Given the description of an element on the screen output the (x, y) to click on. 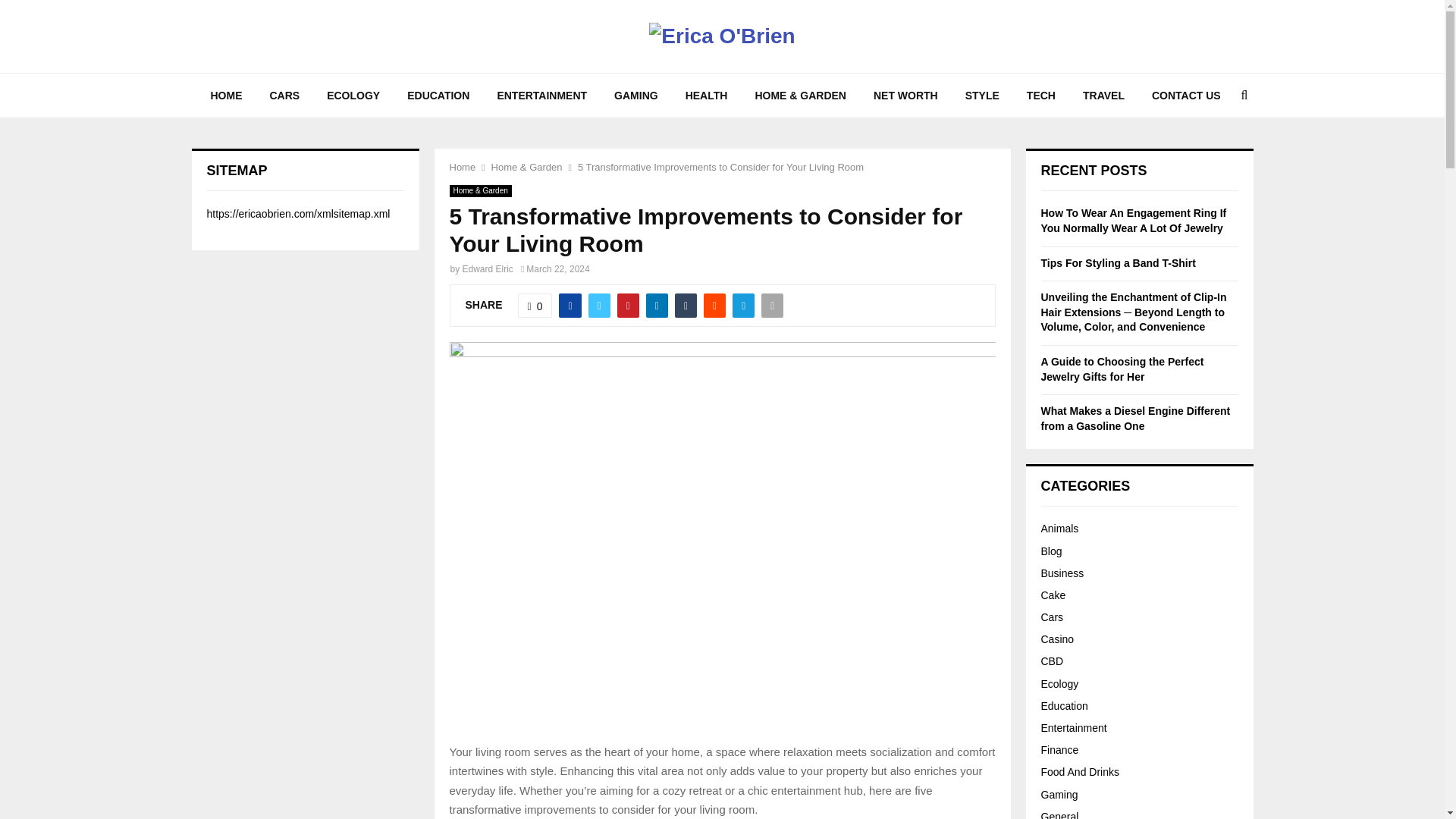
Like (535, 305)
TECH (1040, 94)
GAMING (635, 94)
EDUCATION (438, 94)
Edward Elric (488, 268)
CONTACT US (1186, 94)
NET WORTH (906, 94)
HEALTH (706, 94)
ENTERTAINMENT (541, 94)
0 (535, 305)
CARS (285, 94)
Home (462, 166)
HOME (226, 94)
TRAVEL (1103, 94)
